Given the description of an element on the screen output the (x, y) to click on. 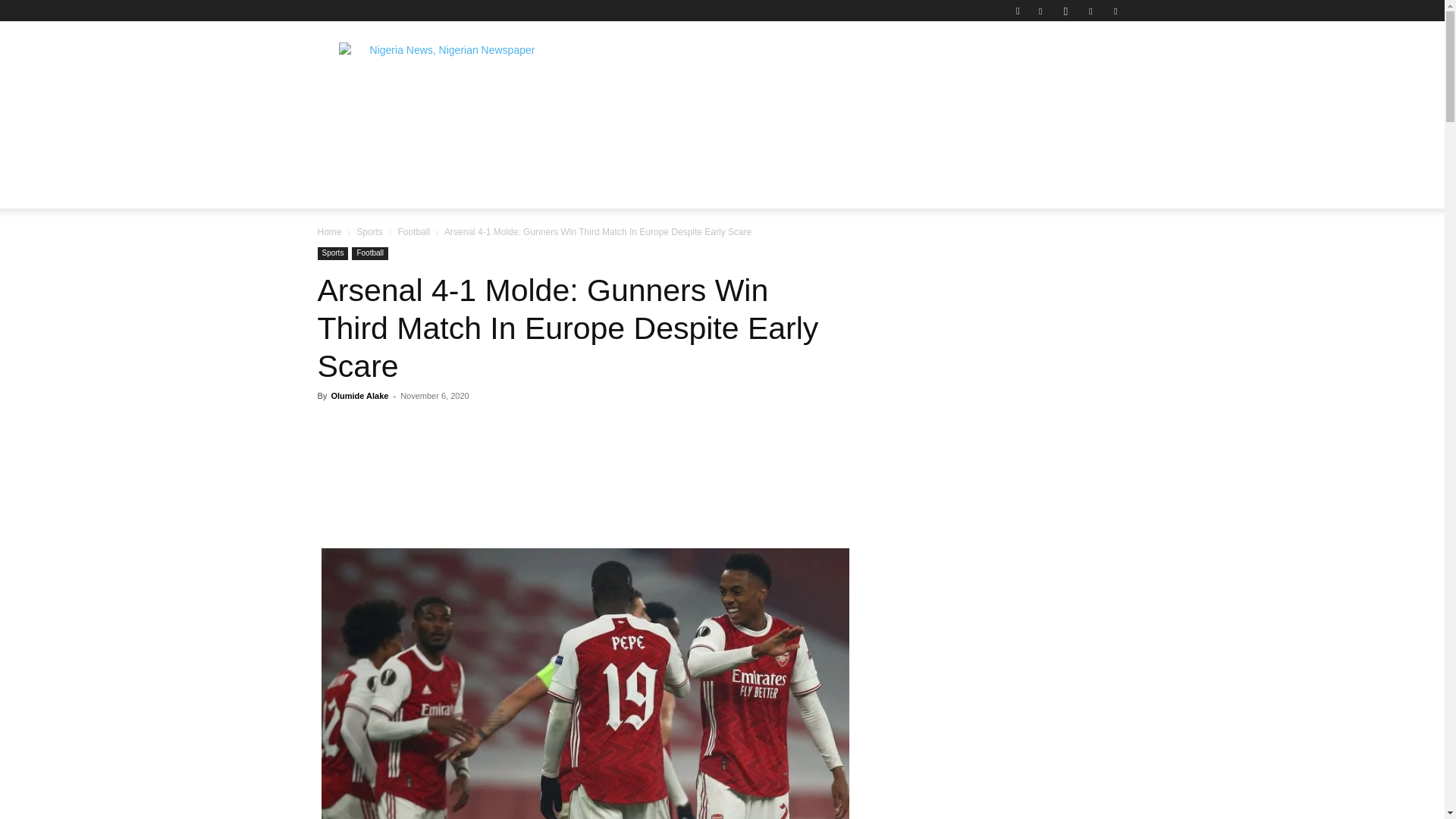
BBC PIDGIN (779, 139)
View all posts in Sports (369, 231)
POLITICS (551, 139)
SPECIAL REPORTS (660, 139)
Youtube (1114, 10)
SPORTS (974, 139)
Nigeria News, Nigerian Newspaper (445, 76)
View all posts in Football (413, 231)
Facebook (1040, 10)
Instagram (1065, 10)
HOME (347, 139)
METRO NEWS (884, 139)
Twitter (1090, 10)
Search (1085, 64)
NATIONAL NEWS (444, 139)
